Given the description of an element on the screen output the (x, y) to click on. 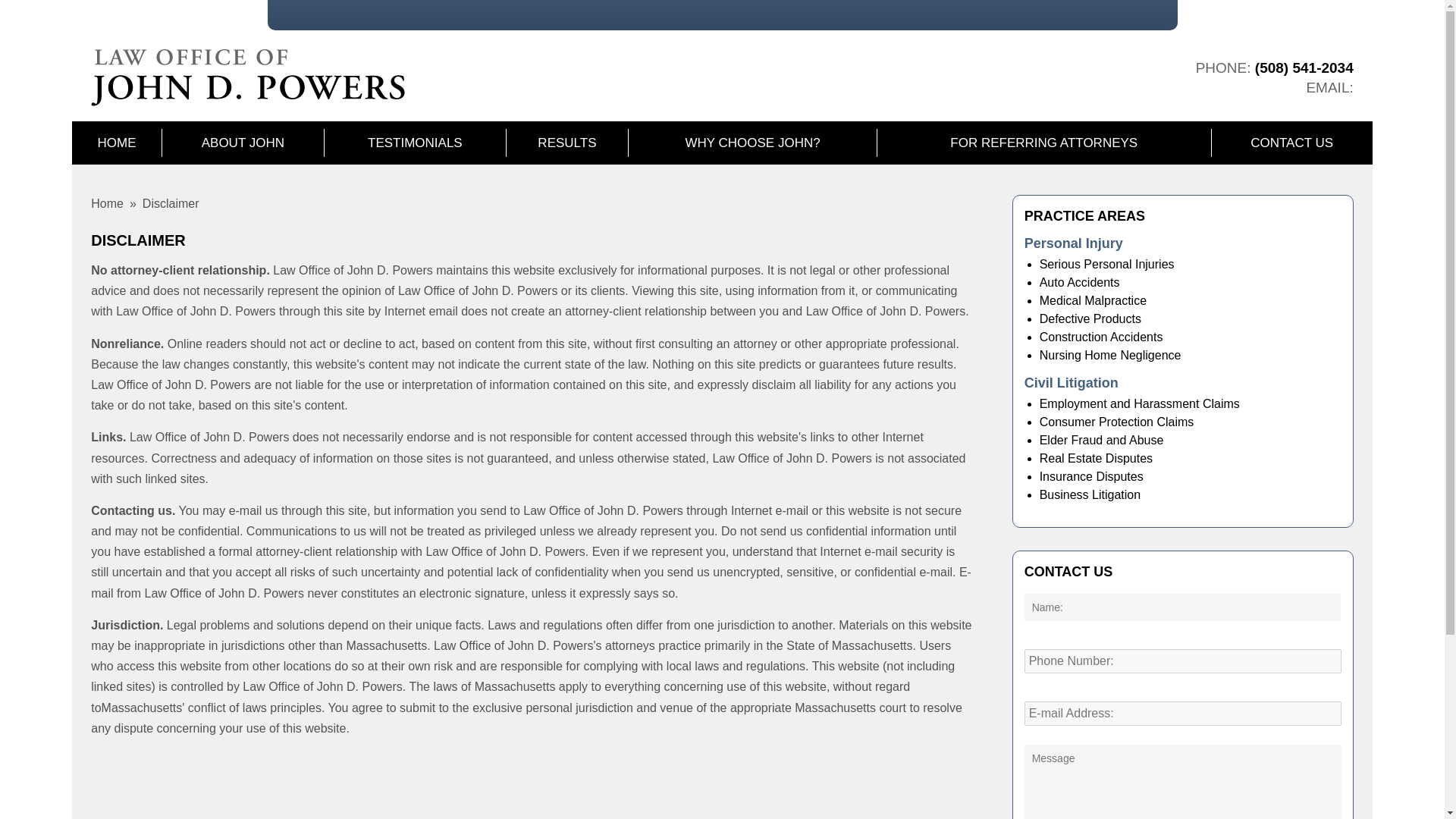
FOR REFERRING ATTORNEYS (1044, 142)
CONTACT US (1292, 142)
WHY CHOOSE JOHN? (752, 142)
HOME (115, 142)
ABOUT JOHN (242, 142)
TESTIMONIALS (414, 142)
RESULTS (566, 142)
Home (106, 203)
